Given the description of an element on the screen output the (x, y) to click on. 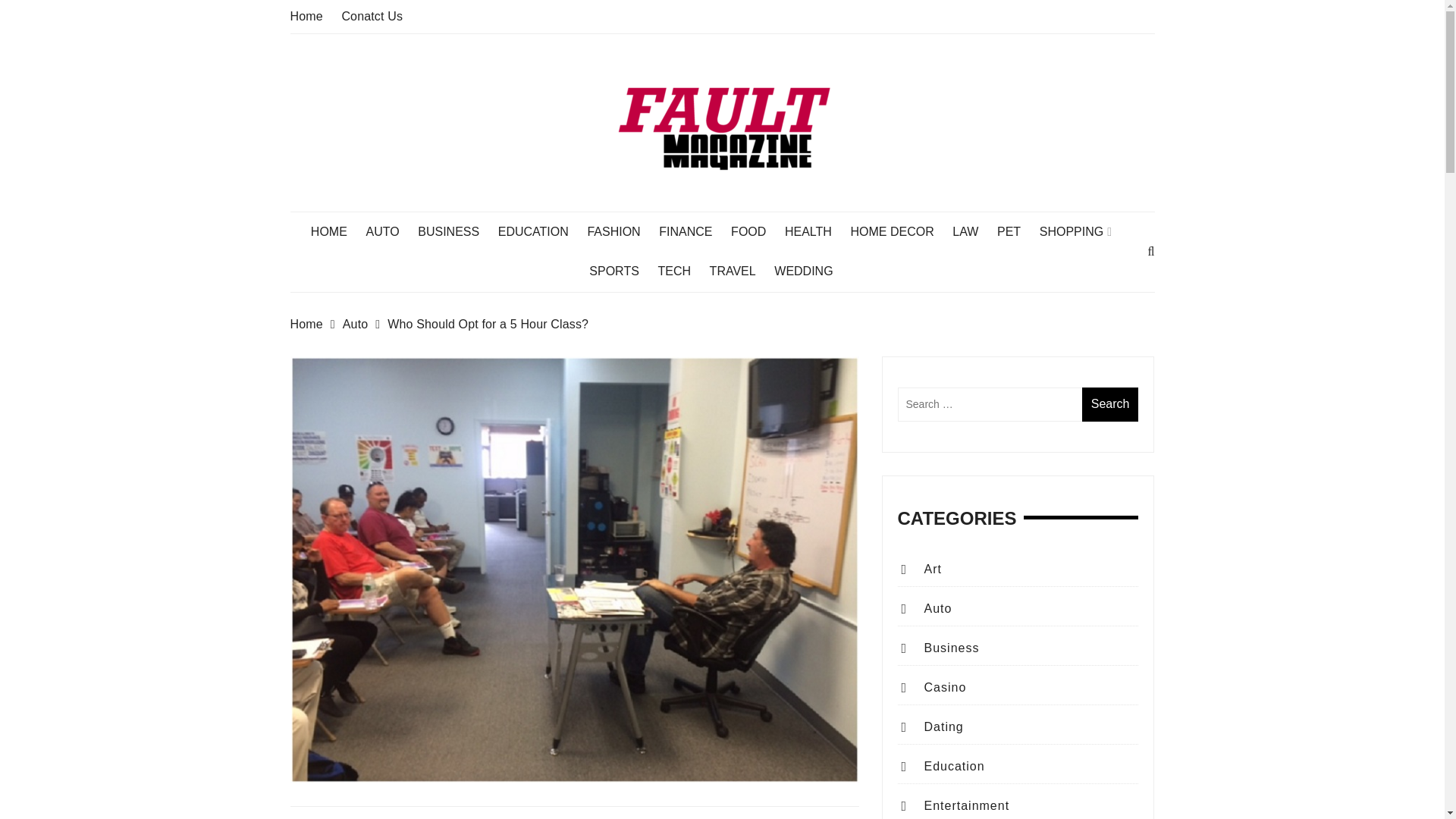
LAW (972, 231)
PET (1016, 231)
Auto (365, 324)
AUTO (389, 231)
FOOD (755, 231)
HOME (336, 231)
Search (1109, 404)
FINANCE (692, 231)
TECH (682, 271)
HEALTH (815, 231)
